Given the description of an element on the screen output the (x, y) to click on. 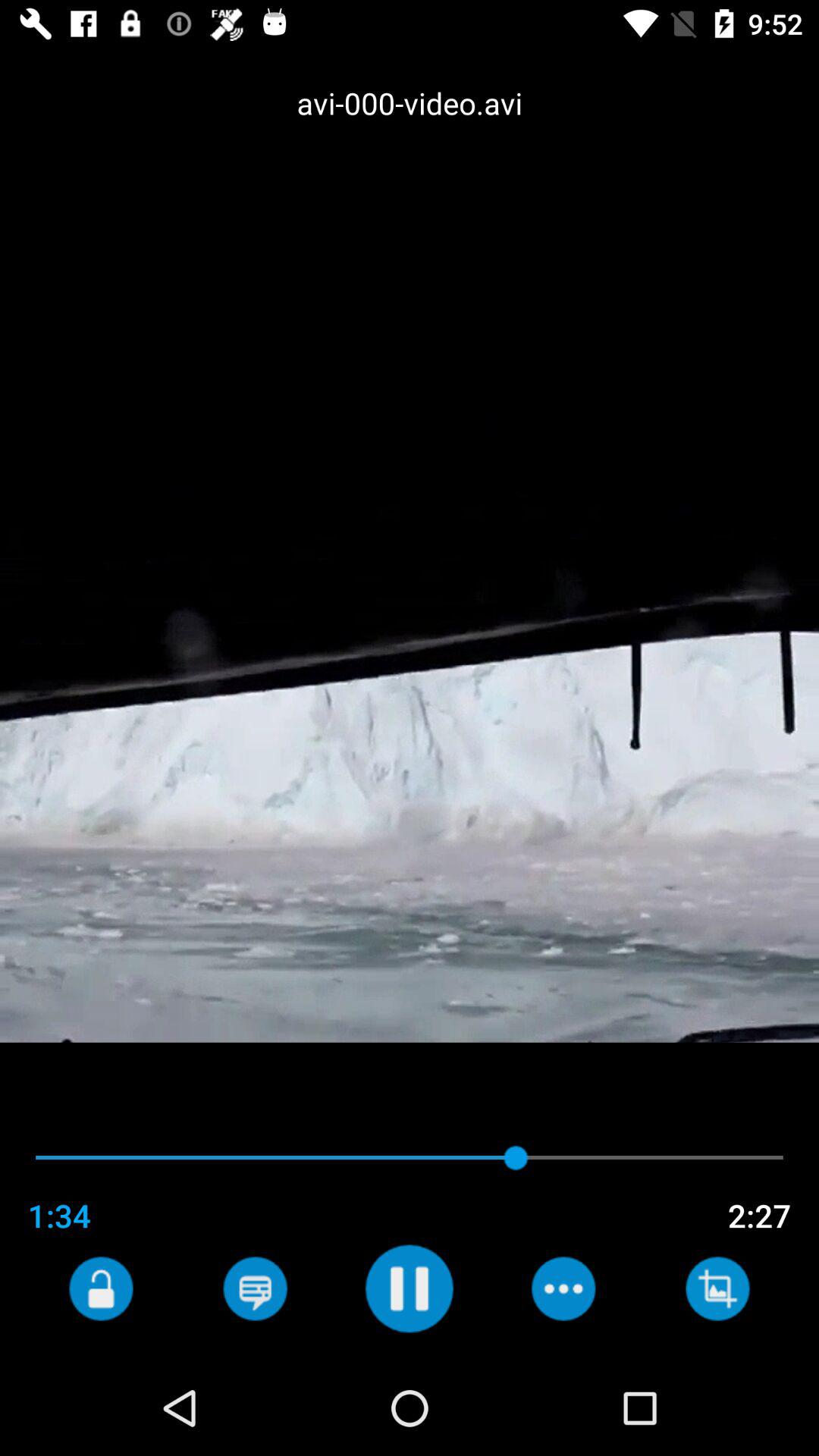
edit video (717, 1288)
